Given the description of an element on the screen output the (x, y) to click on. 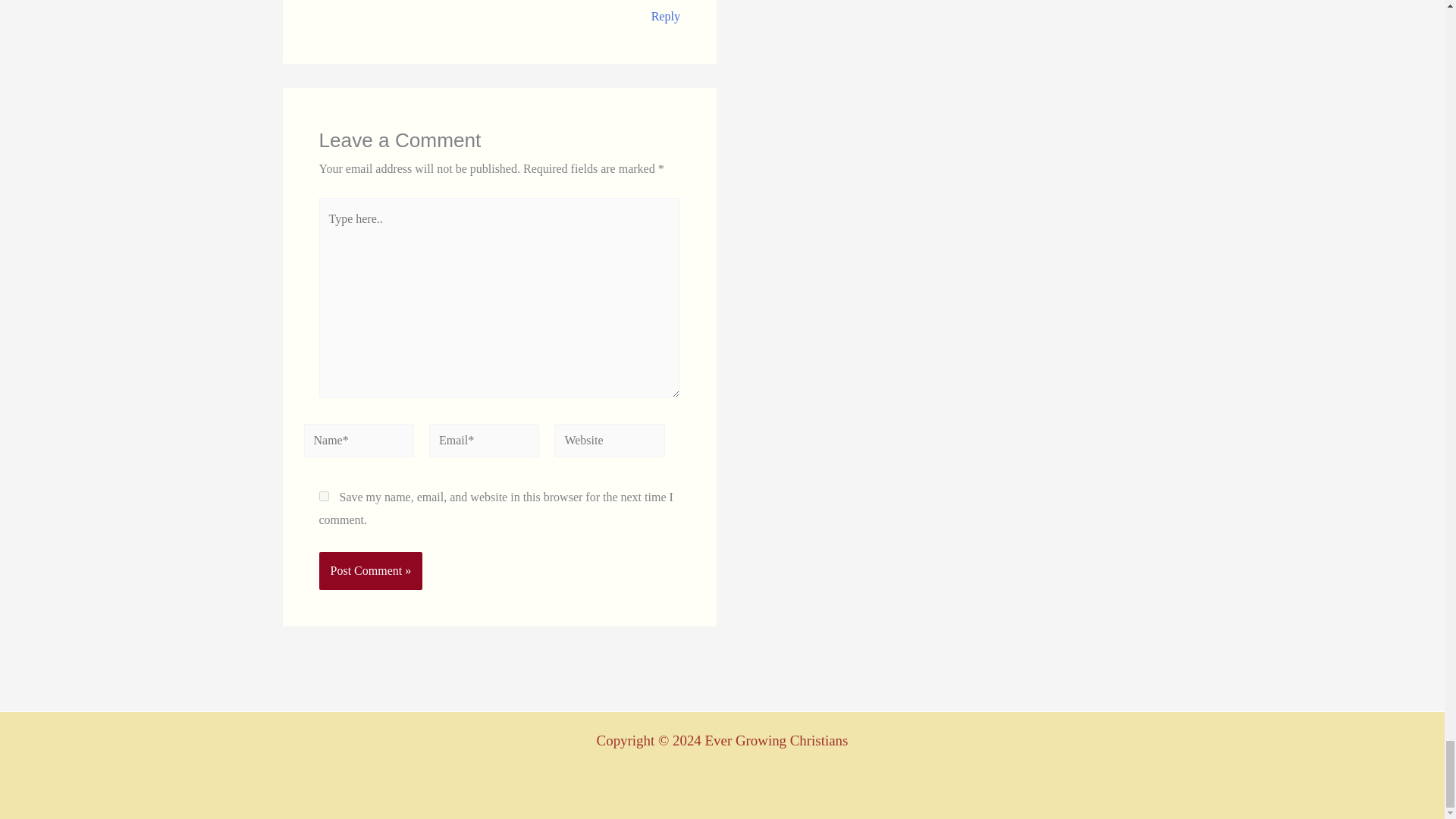
yes (323, 496)
